Given the description of an element on the screen output the (x, y) to click on. 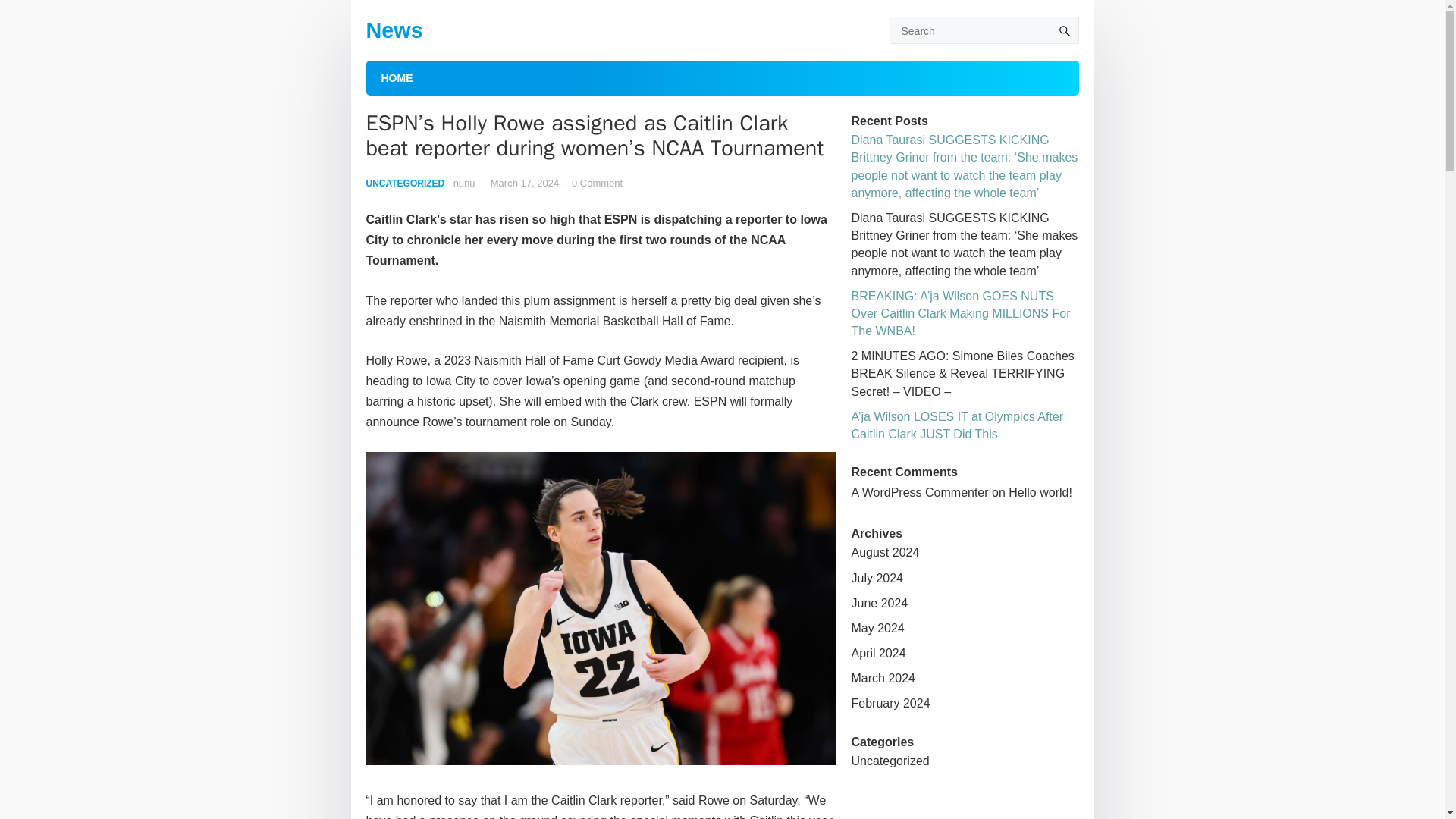
nunu (464, 183)
HOME (396, 77)
0 Comment (597, 183)
UNCATEGORIZED (404, 183)
Posts by nunu (464, 183)
News (393, 30)
